Given the description of an element on the screen output the (x, y) to click on. 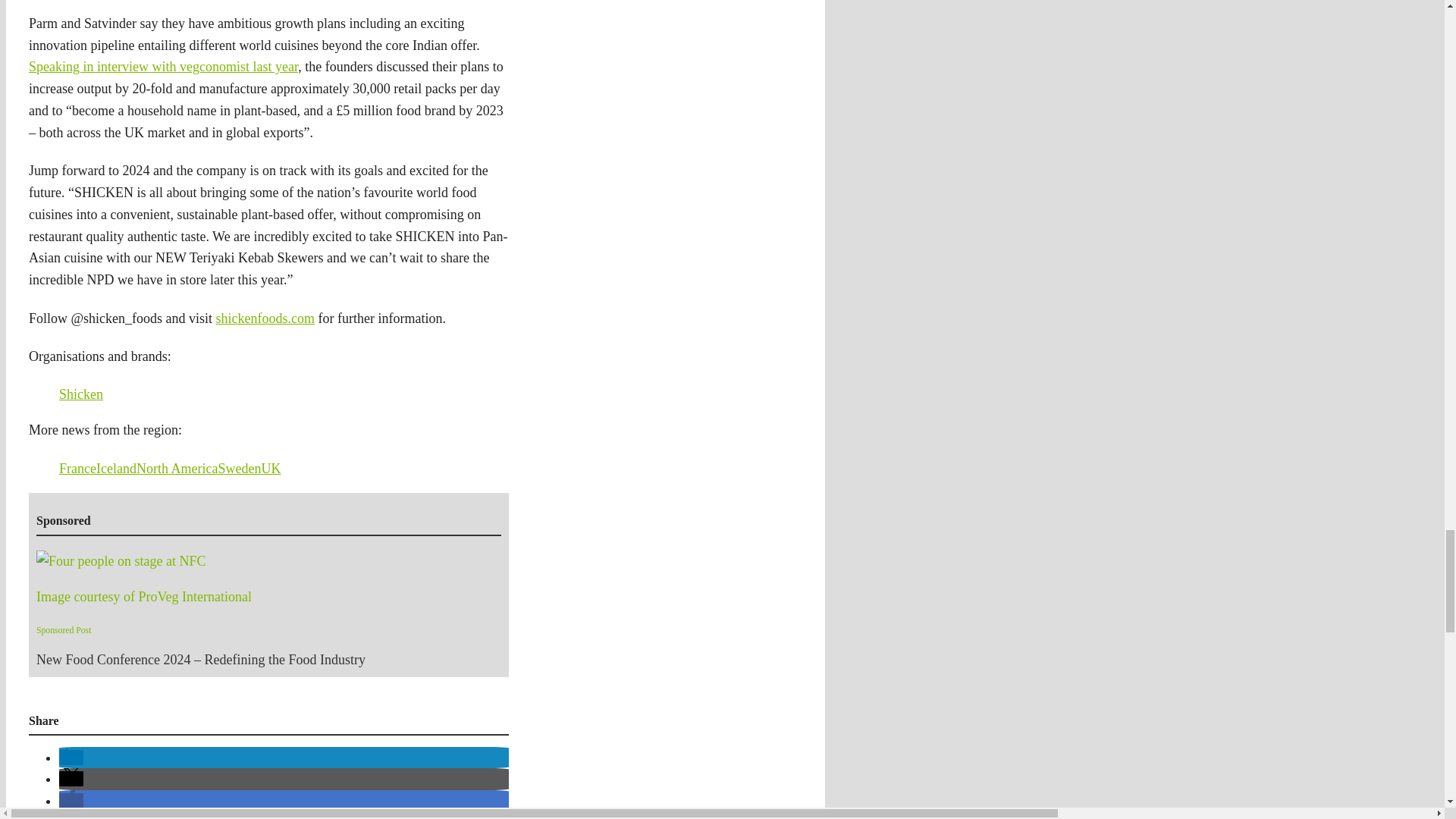
Shicken (81, 394)
UK (270, 468)
Sweden (238, 468)
France (77, 468)
Share on X (70, 778)
North America (176, 468)
Iceland (116, 468)
Share on LinkedIn (70, 757)
Share on Facebook (70, 800)
